Given the description of an element on the screen output the (x, y) to click on. 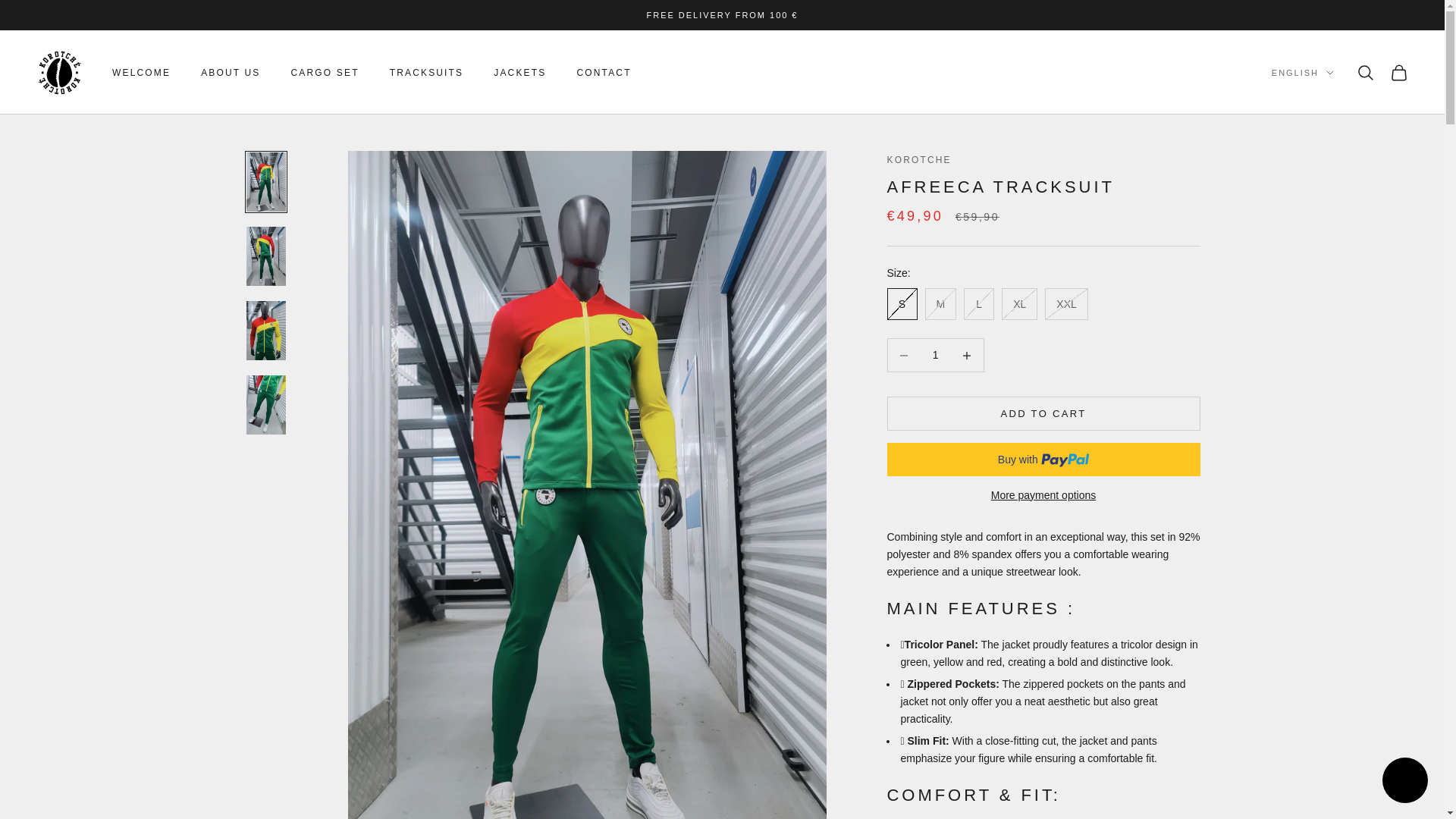
Open cart (1398, 72)
ADD TO CART (1042, 412)
CARGO SET (325, 72)
TRACKSUITS (427, 72)
Open search (1365, 72)
JACKETS (519, 72)
ENGLISH (1302, 72)
Decrease quantity (903, 355)
korotche (58, 72)
CONTACT (603, 72)
Decrease quantity (967, 355)
ABOUT US (230, 72)
KOROTCHE (919, 159)
